Given the description of an element on the screen output the (x, y) to click on. 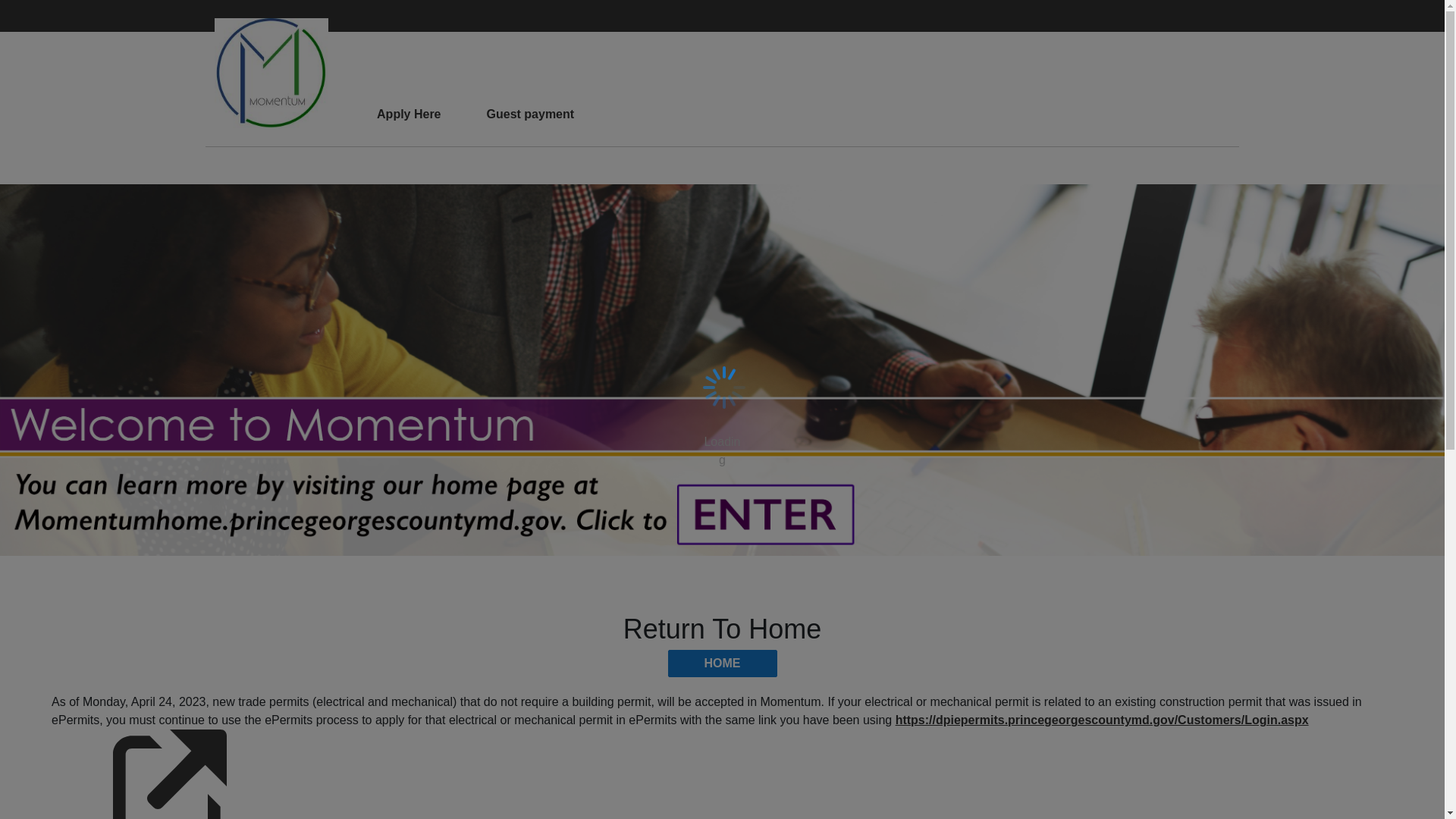
Skip to Content (72, 13)
HOME (721, 663)
Apply Here (408, 114)
Go to Home (271, 72)
Guest payment (530, 114)
